Given the description of an element on the screen output the (x, y) to click on. 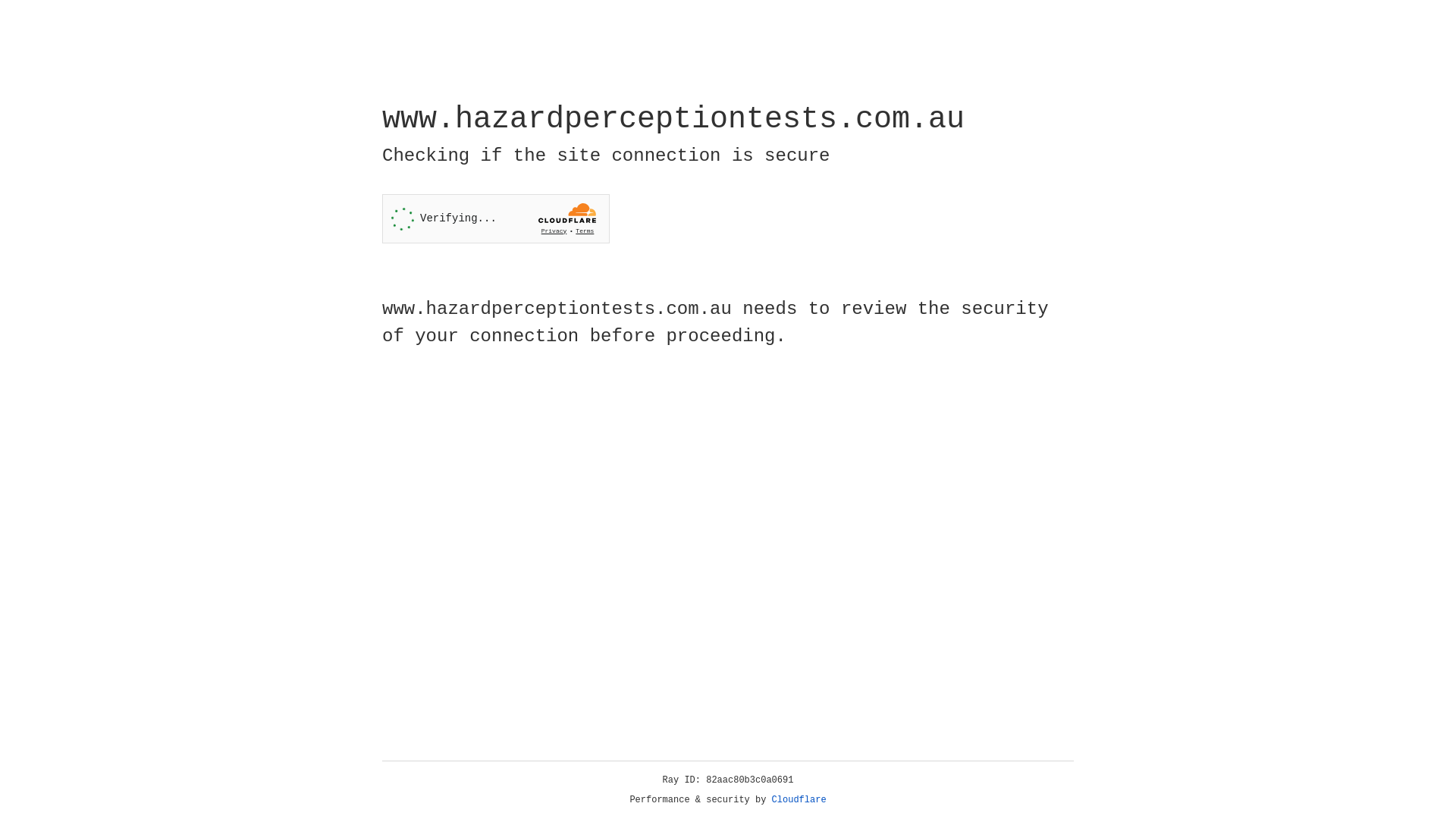
Widget containing a Cloudflare security challenge Element type: hover (495, 218)
Cloudflare Element type: text (798, 799)
